Given the description of an element on the screen output the (x, y) to click on. 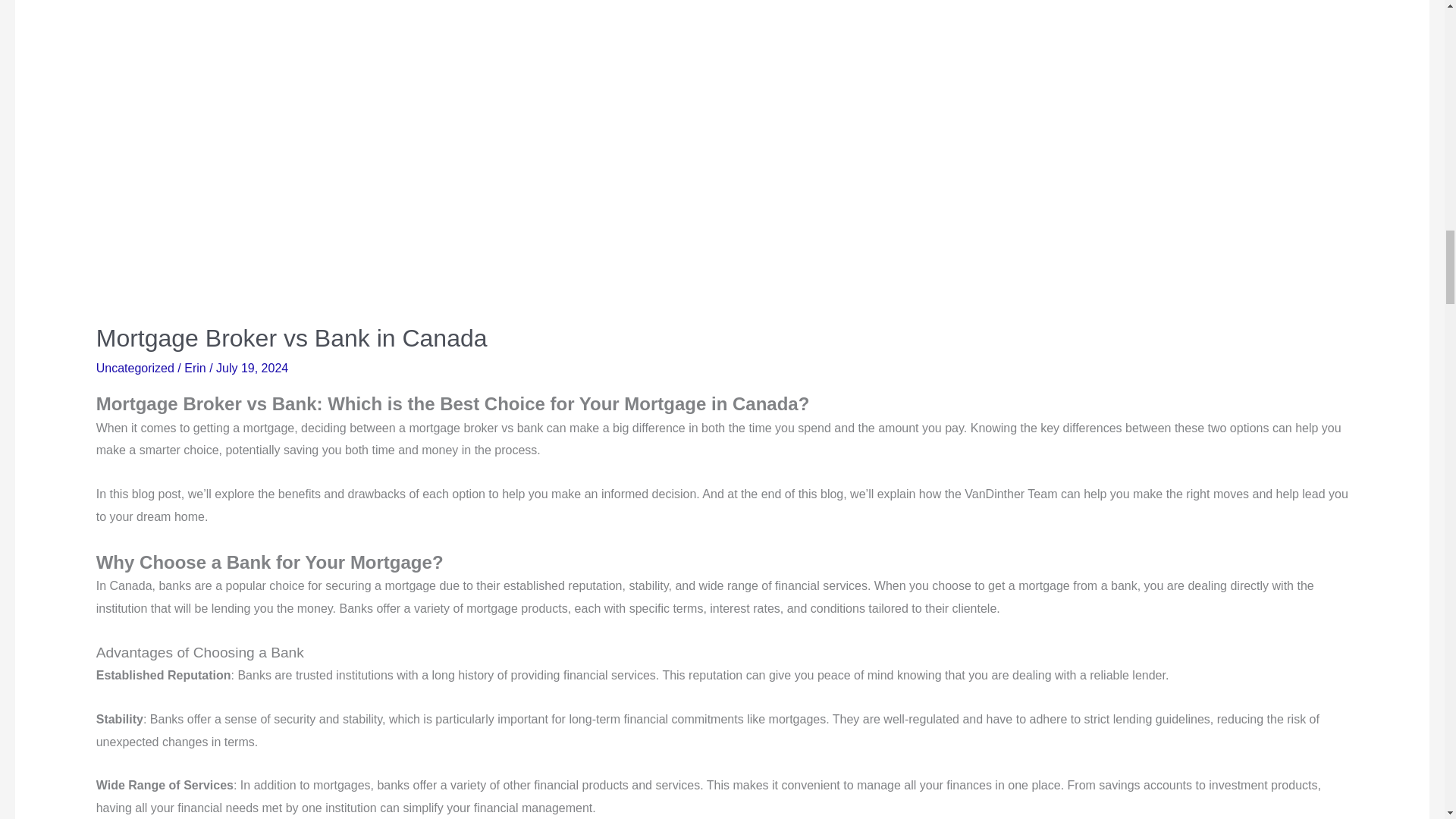
View all posts by Erin (196, 367)
Erin (196, 367)
Mortgage Broker vs Bank in Canada (291, 338)
Uncategorized (135, 367)
